Given the description of an element on the screen output the (x, y) to click on. 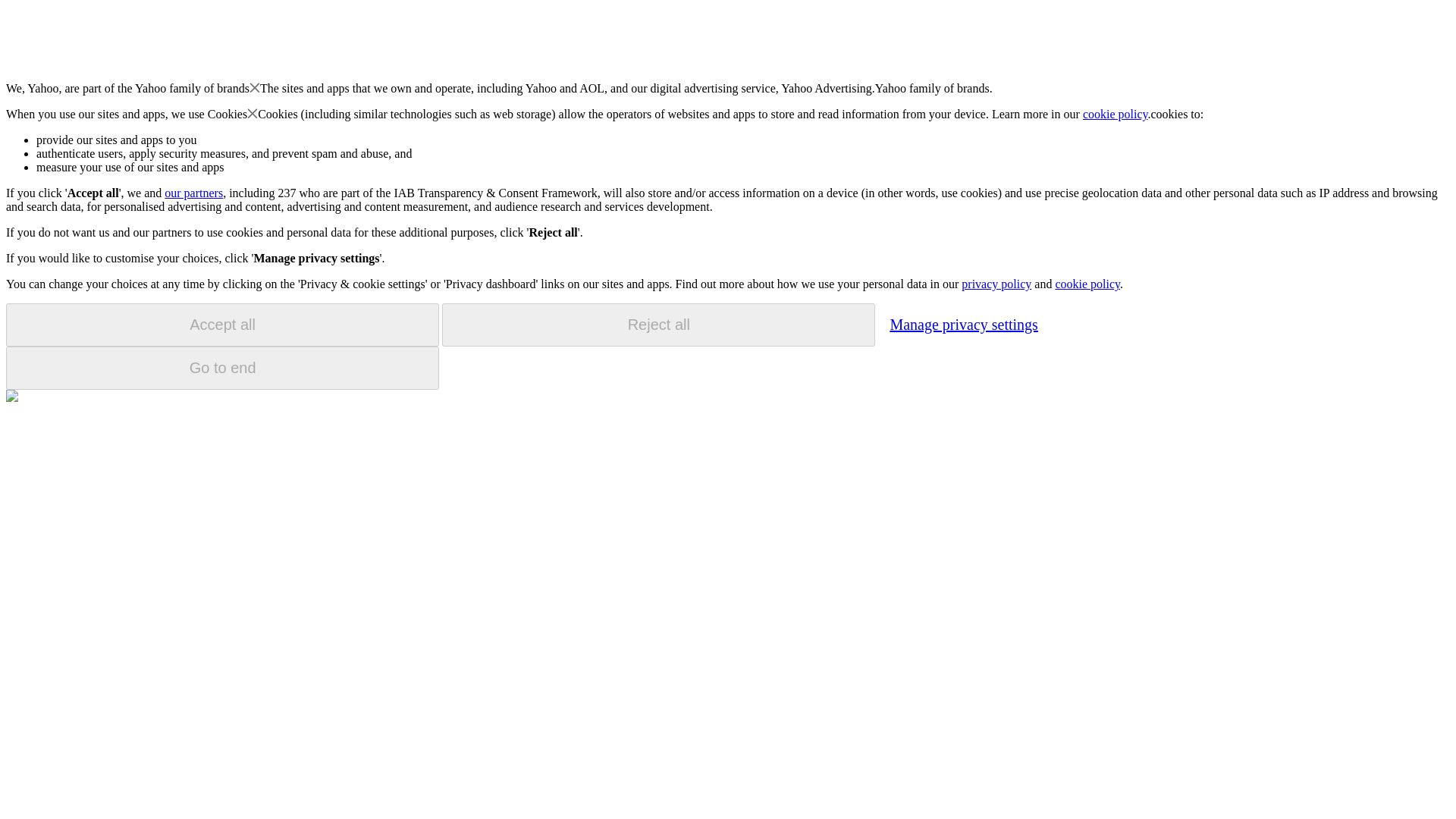
cookie policy (1115, 113)
our partners (193, 192)
Accept all (222, 324)
Reject all (658, 324)
Go to end (222, 367)
privacy policy (995, 283)
Manage privacy settings (963, 323)
cookie policy (1086, 283)
